Given the description of an element on the screen output the (x, y) to click on. 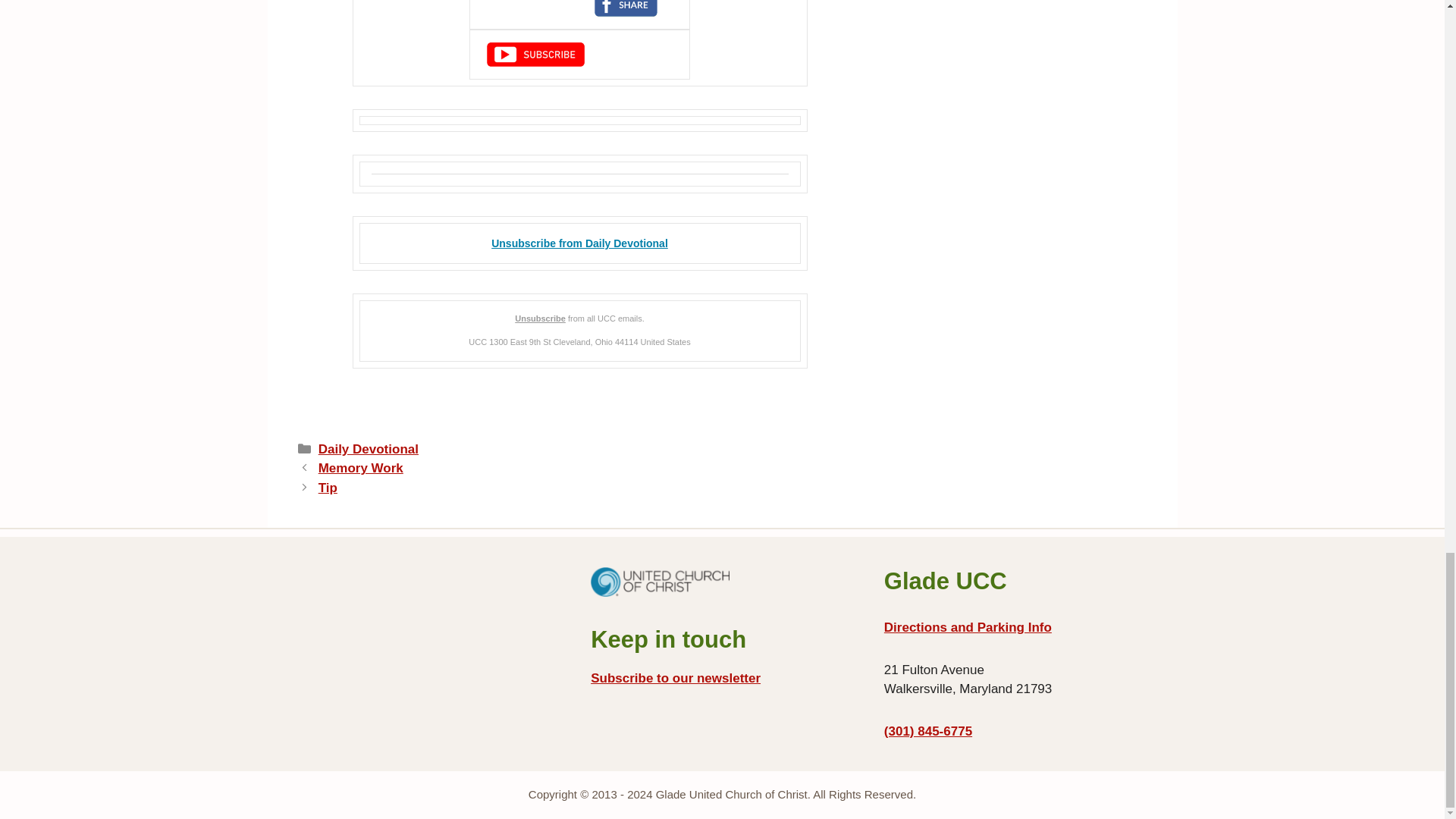
Unsubscribe (540, 317)
Unsubscribe from Daily Devotional (580, 243)
Daily Devotional (368, 449)
